Given the description of an element on the screen output the (x, y) to click on. 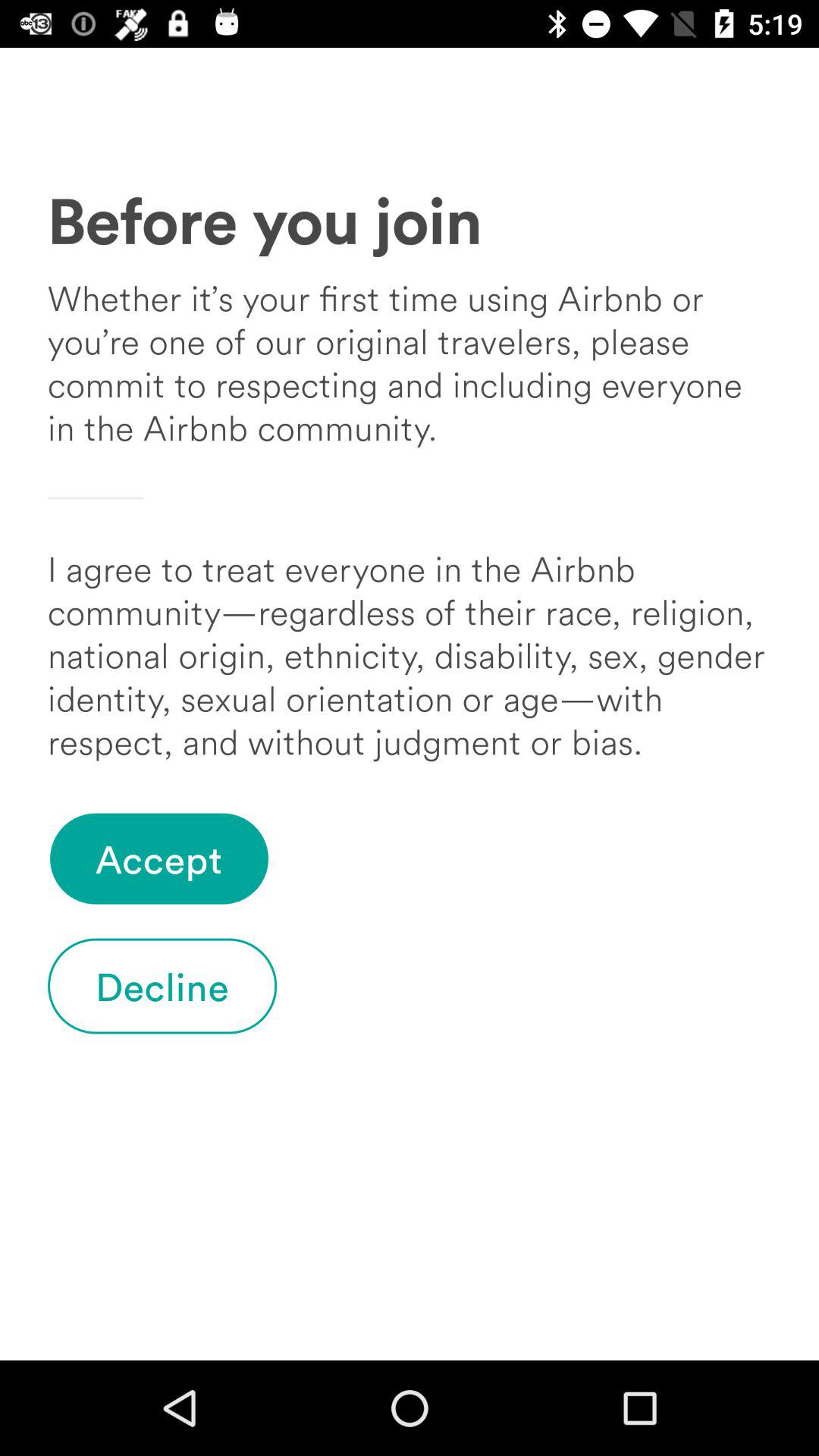
click item at the bottom left corner (161, 985)
